Given the description of an element on the screen output the (x, y) to click on. 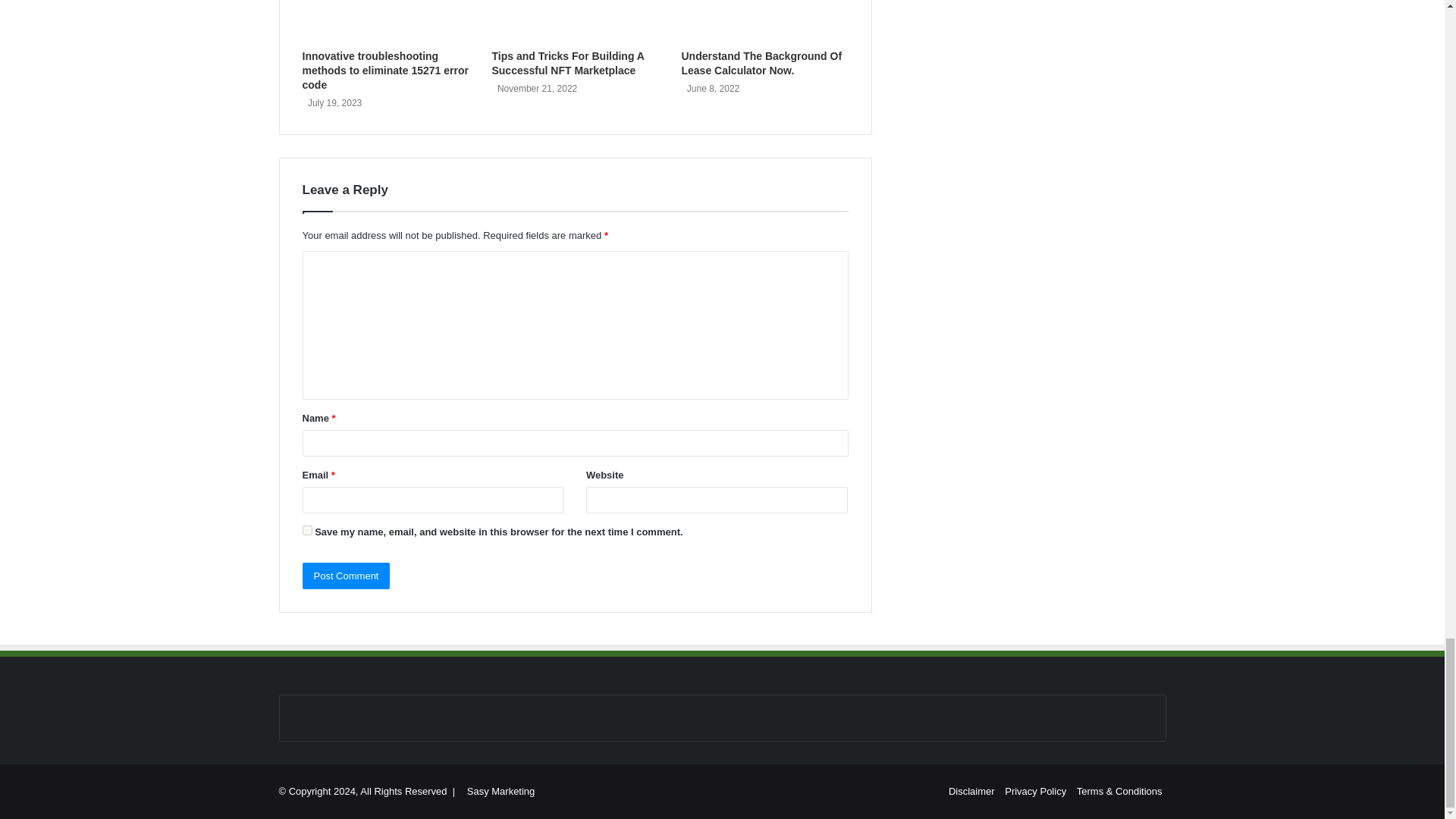
Post Comment (345, 575)
yes (306, 530)
